Given the description of an element on the screen output the (x, y) to click on. 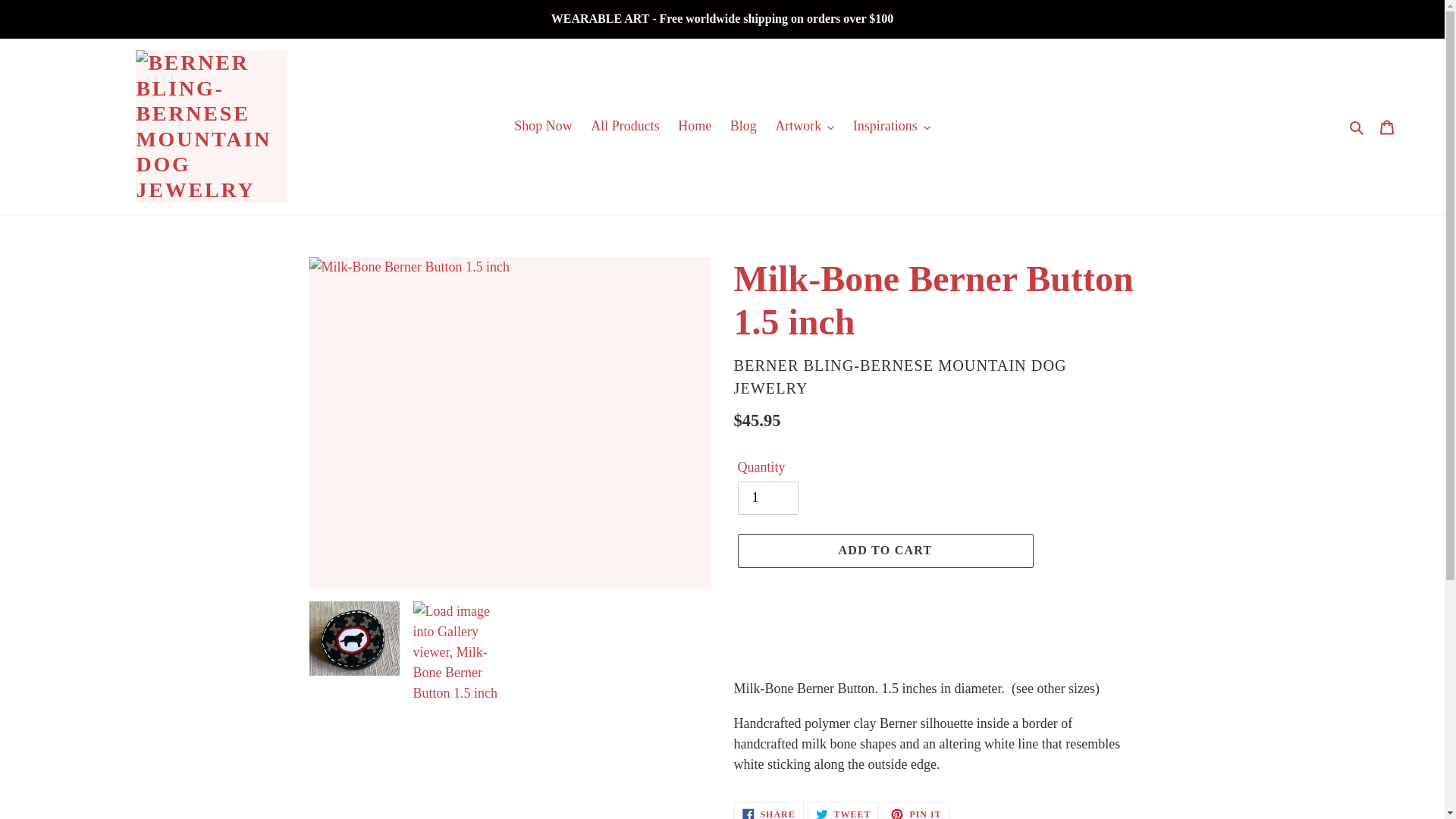
Blog (743, 125)
ADD TO CART (884, 550)
Home (694, 125)
All Products (624, 125)
Inspirations (891, 125)
Artwork (804, 125)
Cart (1387, 126)
Shop Now (542, 125)
Search (1357, 126)
1 (766, 498)
